Given the description of an element on the screen output the (x, y) to click on. 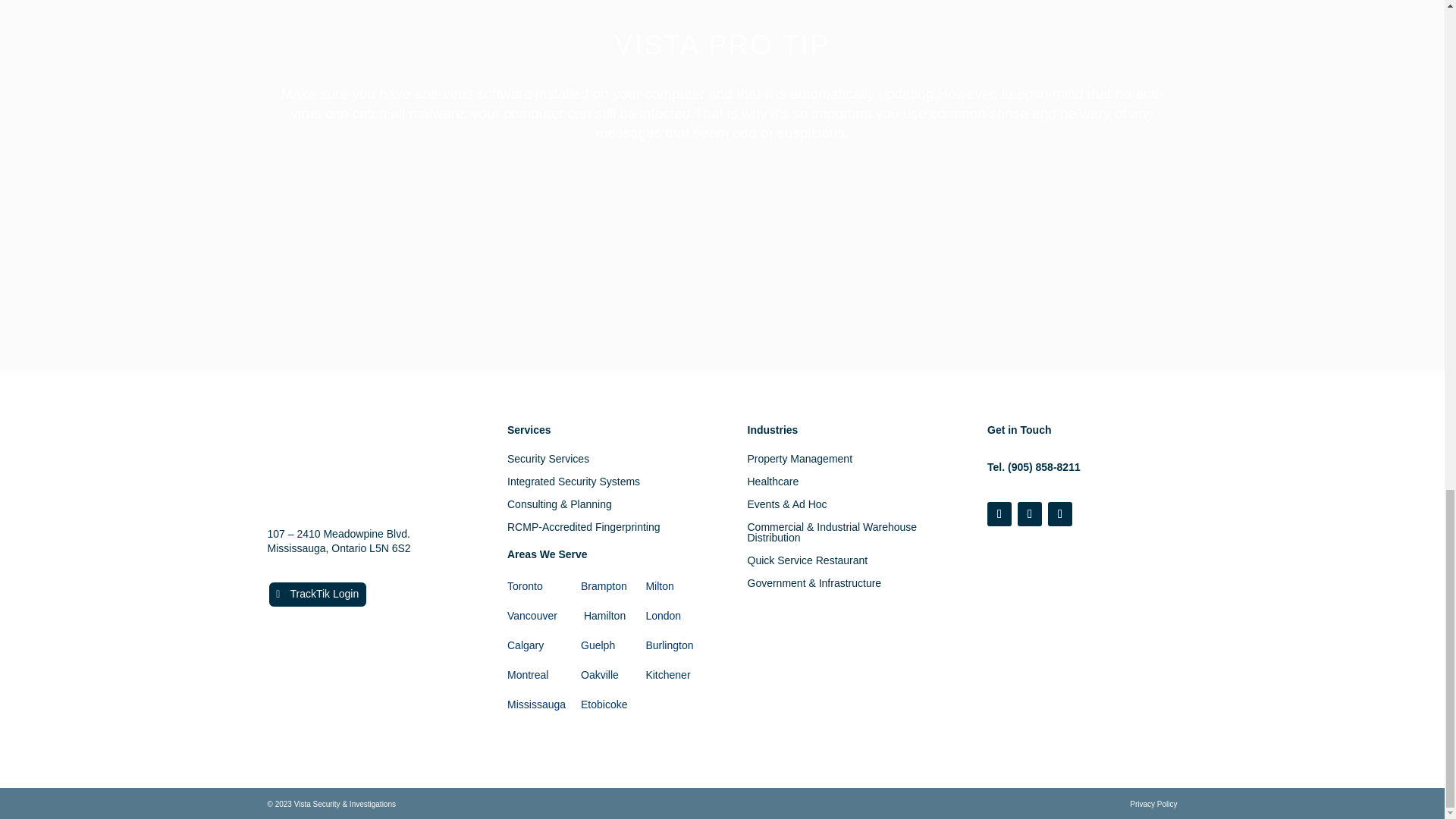
Follow on Instagram (1029, 514)
Follow on LinkedIn (1059, 514)
Follow on Facebook (999, 514)
